Given the description of an element on the screen output the (x, y) to click on. 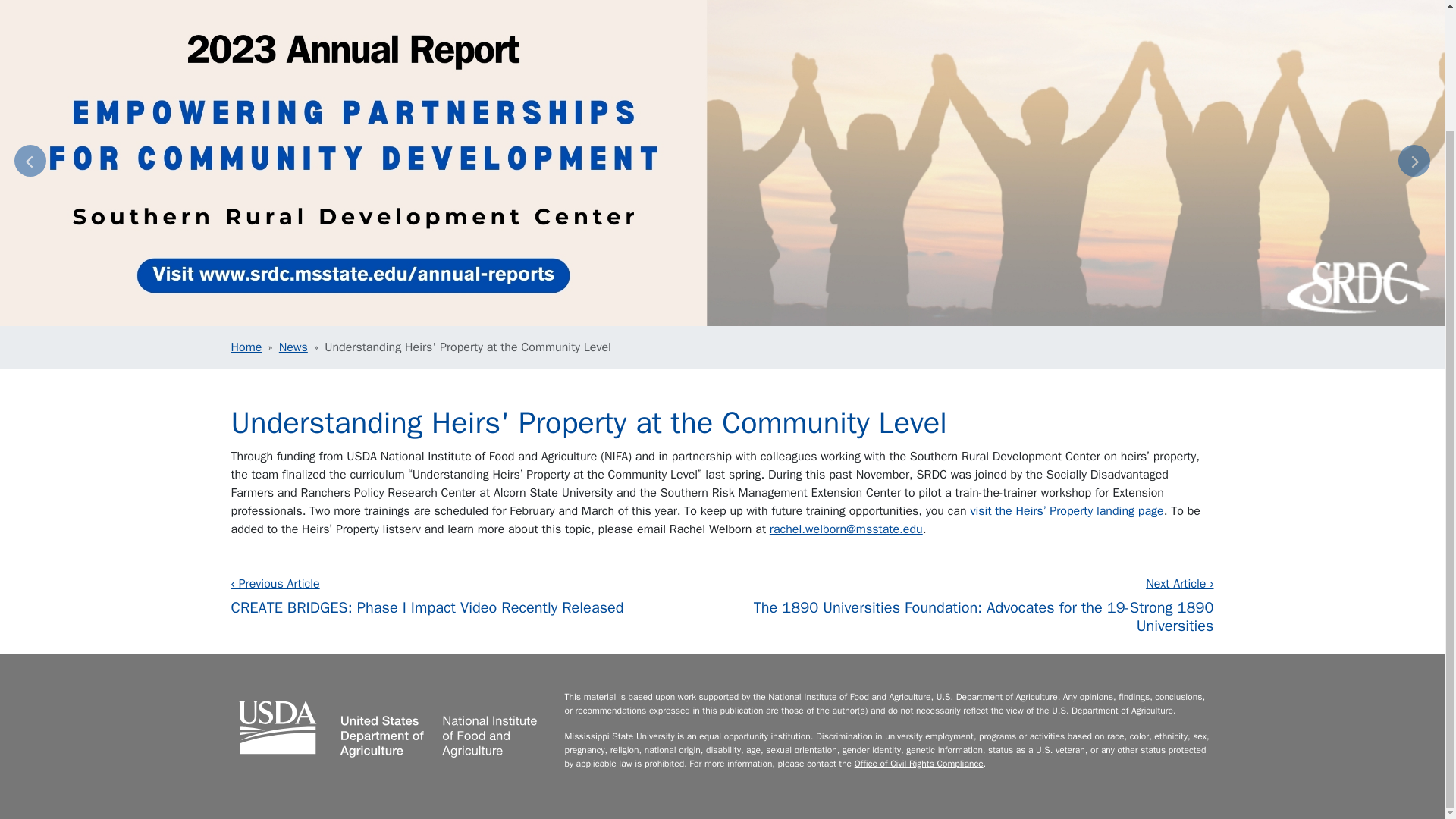
Heirs' Property (1066, 510)
Visit the USDA NIFA website (388, 726)
